Given the description of an element on the screen output the (x, y) to click on. 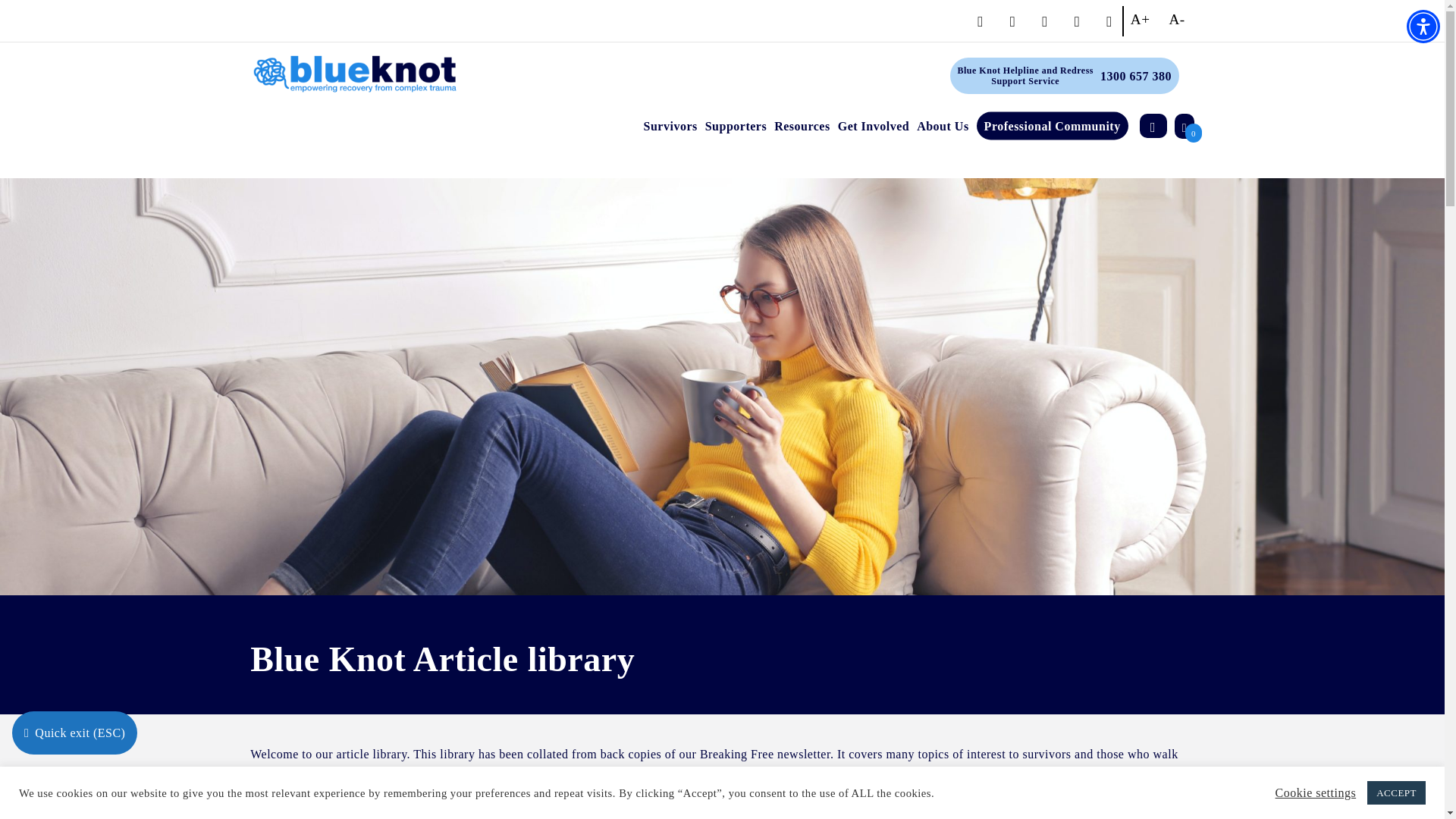
A- (1177, 19)
Supporters (1025, 75)
Accessibility Menu (735, 124)
Survivors (1422, 26)
1300 657 380 (670, 124)
Resources (1136, 75)
